Given the description of an element on the screen output the (x, y) to click on. 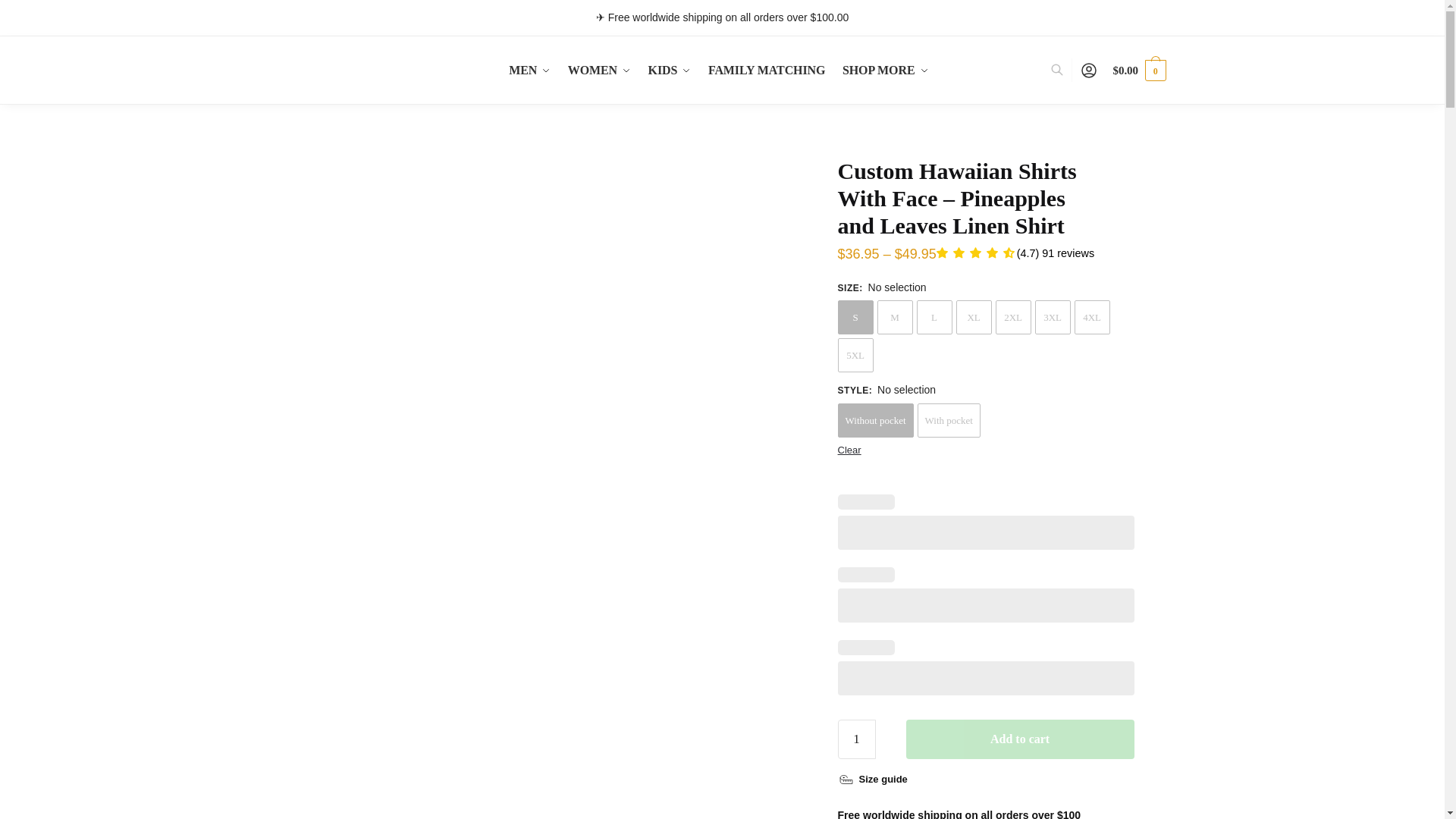
FAMILY MATCHING (766, 70)
View your shopping cart (1139, 70)
WOMEN (598, 70)
1 (857, 739)
SHOP MORE (884, 70)
